Given the description of an element on the screen output the (x, y) to click on. 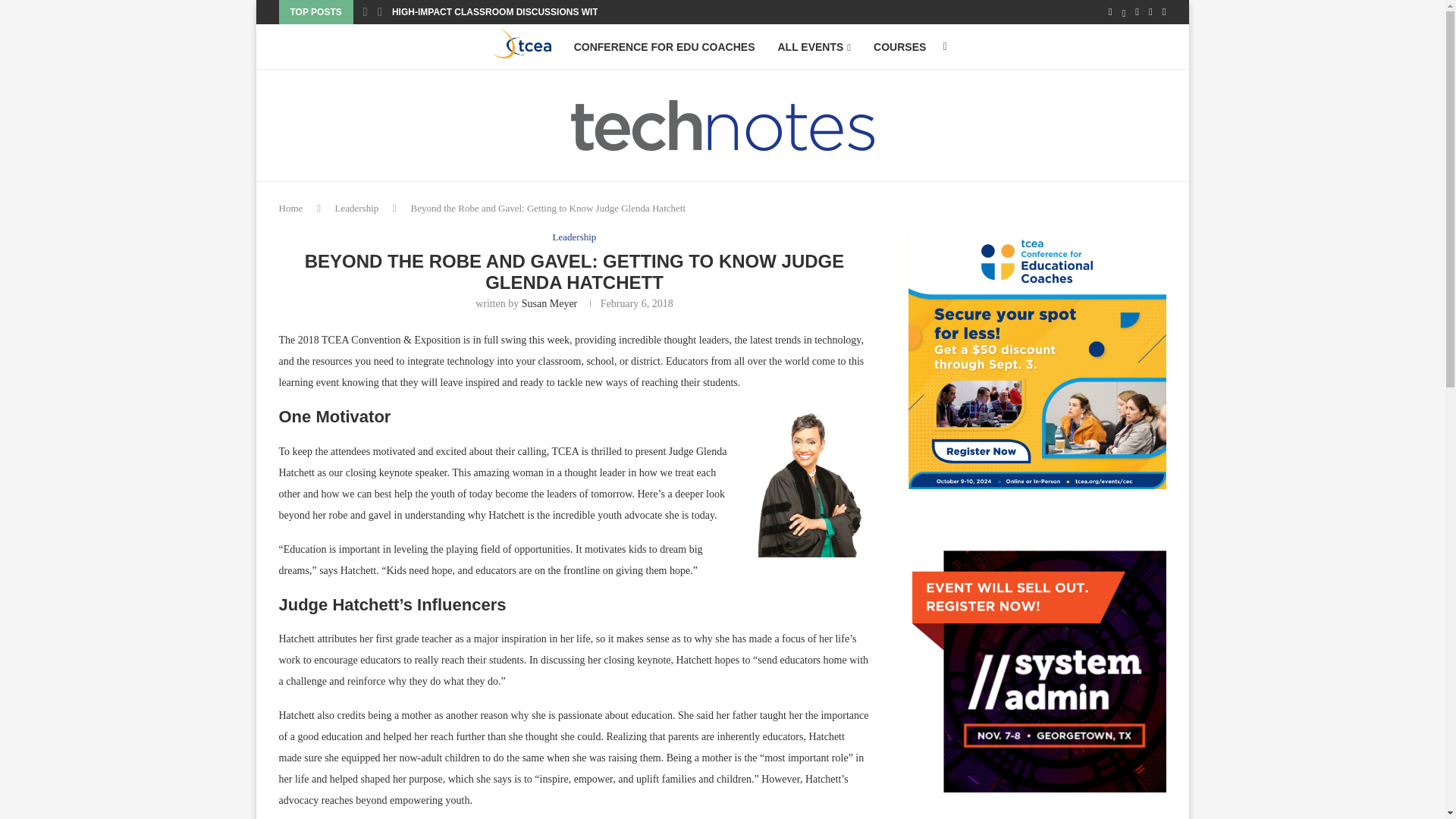
Leadership (356, 207)
CONFERENCE FOR EDU COACHES (664, 46)
HIGH-IMPACT CLASSROOM DISCUSSIONS WITH GOOGLE (518, 12)
COURSES (899, 46)
ALL EVENTS (813, 47)
Home (290, 207)
Susan Meyer (549, 303)
Leadership (574, 236)
